Given the description of an element on the screen output the (x, y) to click on. 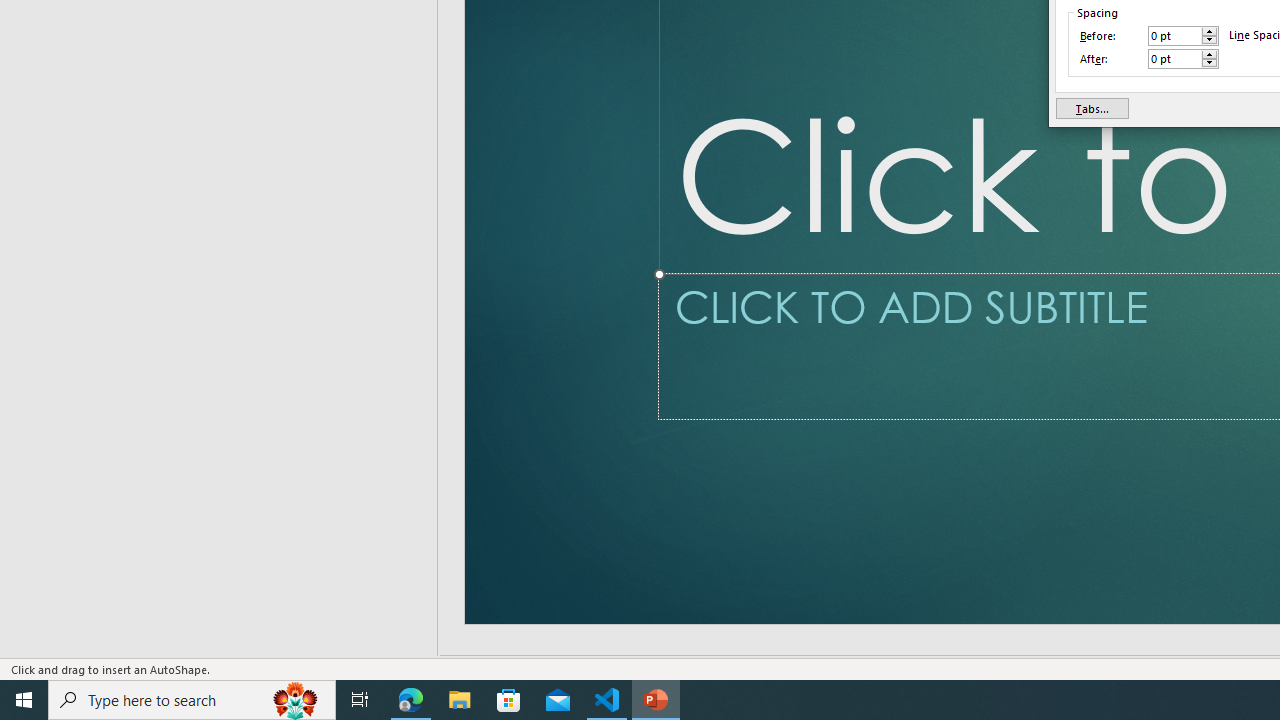
Task View (359, 699)
Microsoft Edge - 1 running window (411, 699)
